Given the description of an element on the screen output the (x, y) to click on. 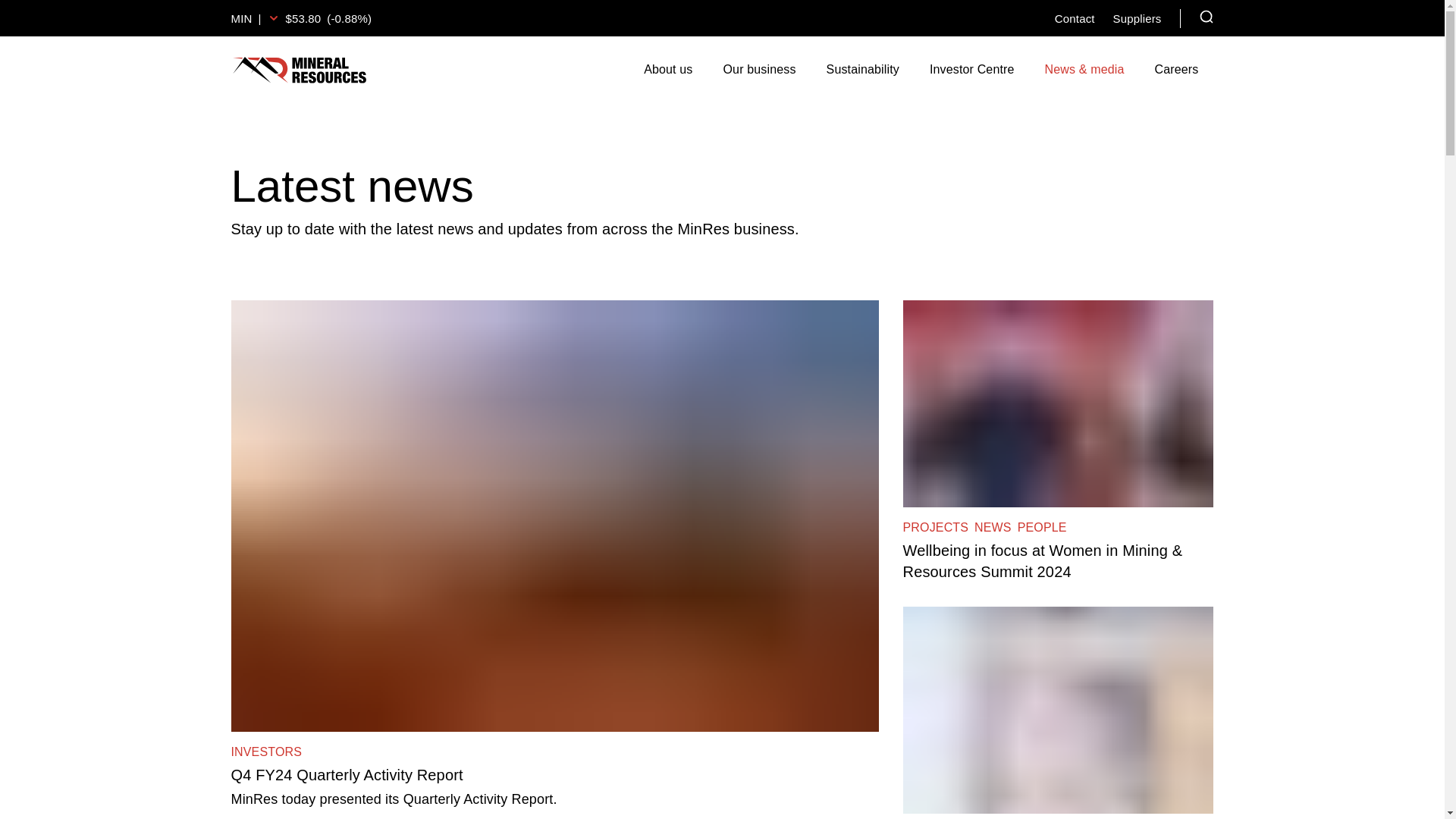
Our business (758, 69)
About us (667, 69)
Suppliers (1137, 18)
Contact (1074, 18)
Sustainability (862, 69)
Mineral Resources (298, 69)
